Given the description of an element on the screen output the (x, y) to click on. 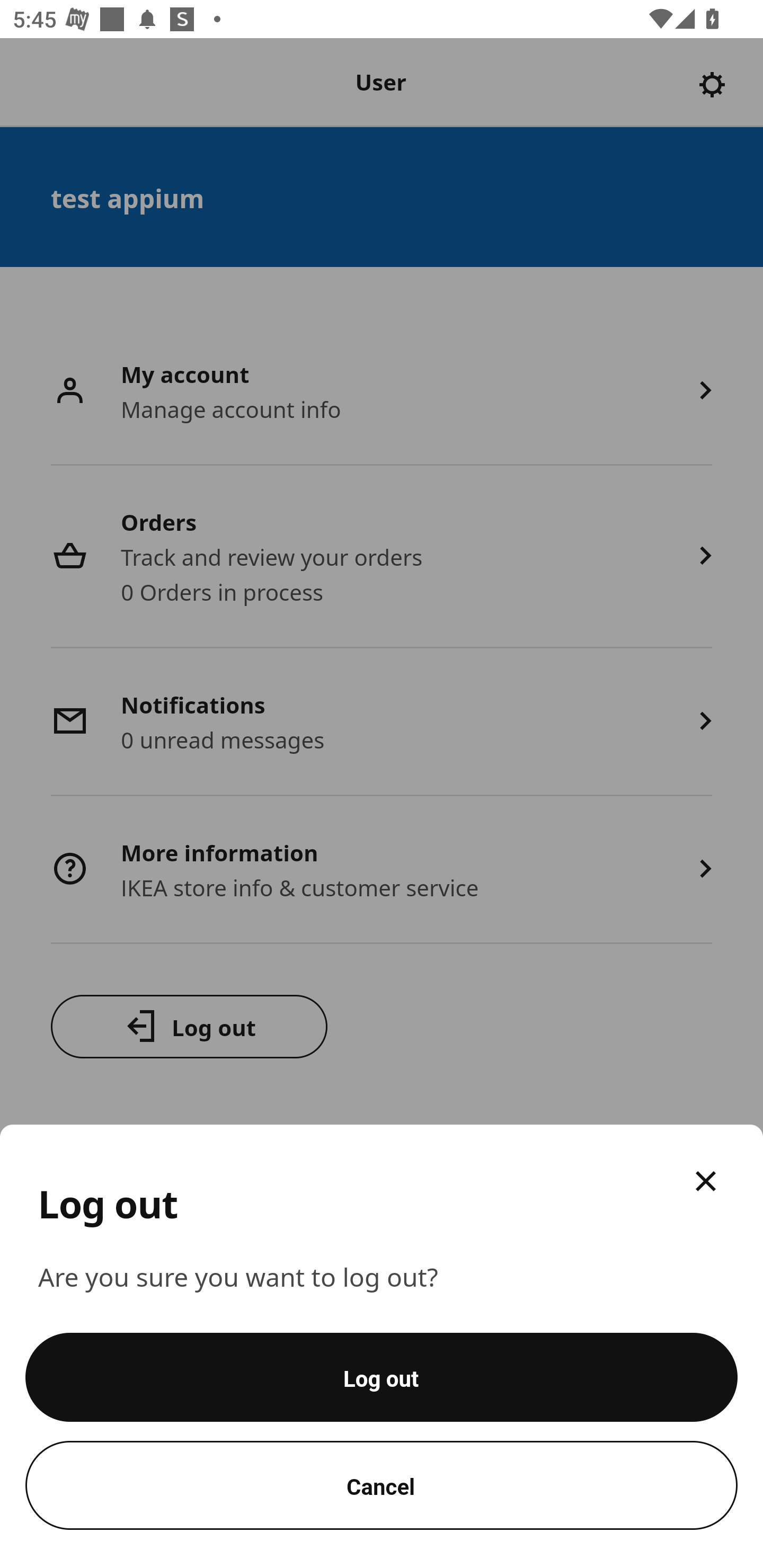
Log out (381, 1377)
Cancel (381, 1485)
